Given the description of an element on the screen output the (x, y) to click on. 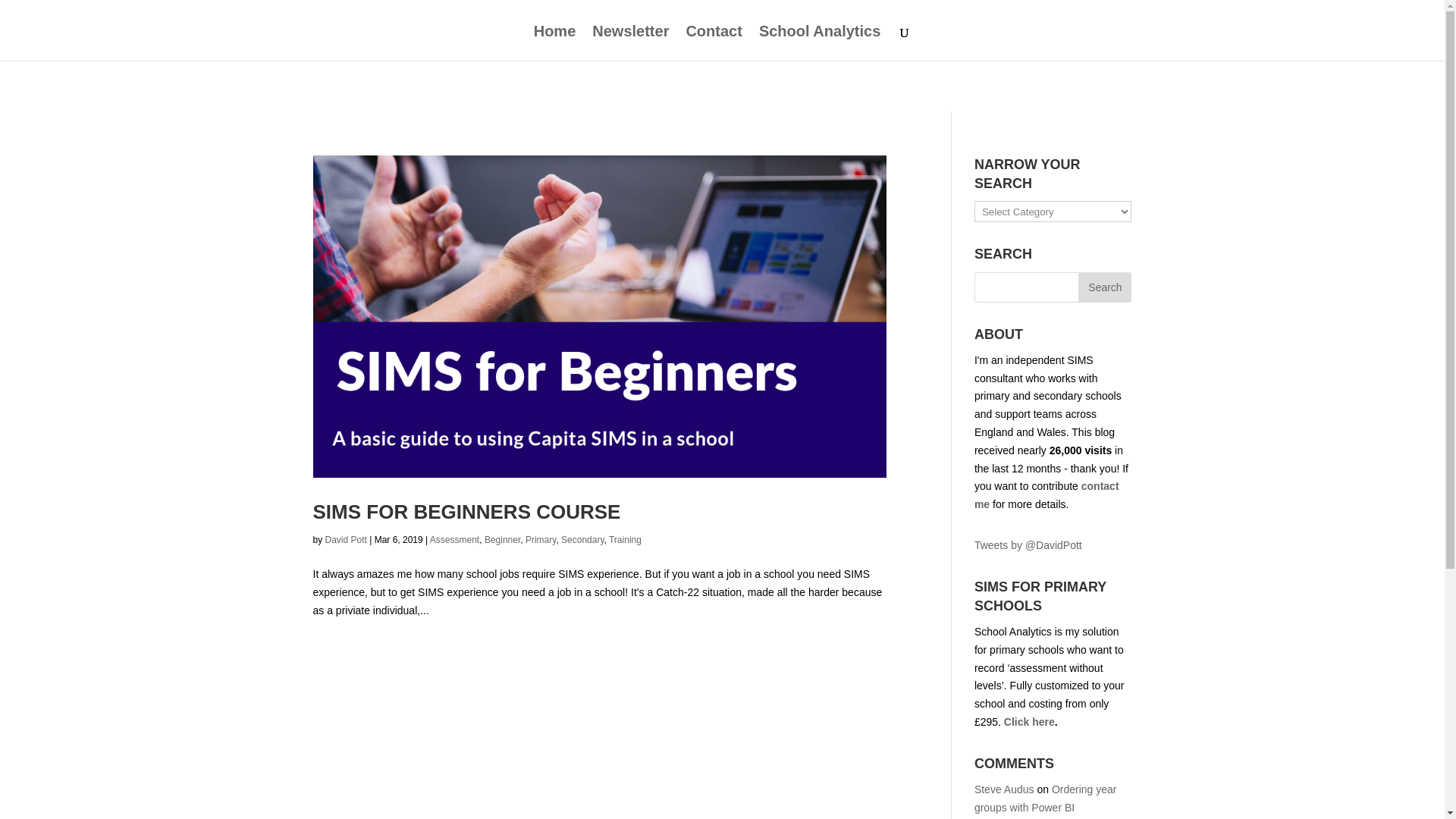
Steve Audus (1003, 788)
Ordering year groups with Power BI (1045, 798)
Beginner (501, 539)
Contact (1046, 494)
Training (625, 539)
contact me (1046, 494)
Assessment (454, 539)
David Pott (345, 539)
Search (1104, 286)
Contact (713, 42)
Search (1104, 286)
Home (555, 42)
Secondary (582, 539)
SIMS FOR BEGINNERS COURSE (466, 511)
Newsletter (630, 42)
